Given the description of an element on the screen output the (x, y) to click on. 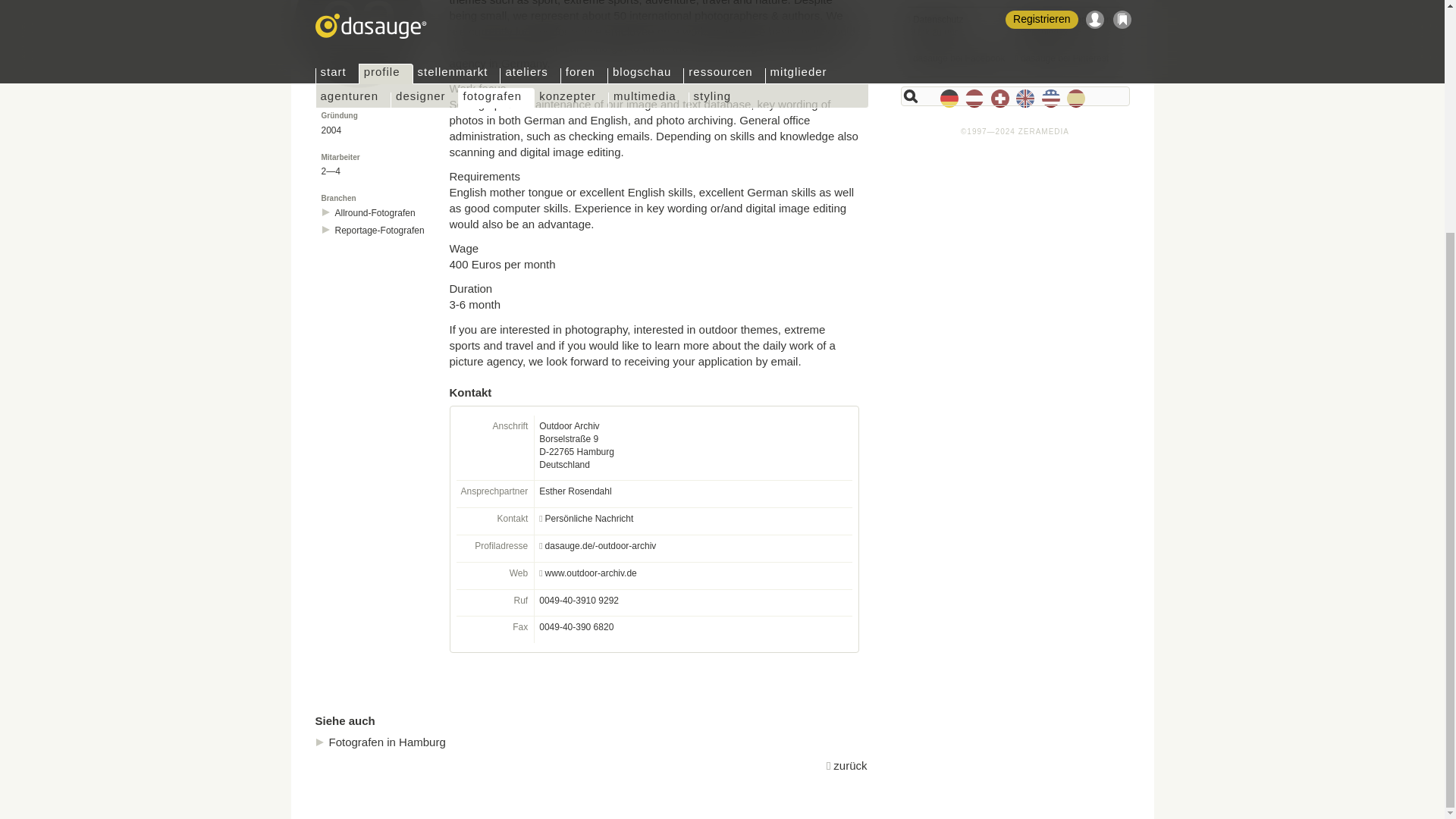
Fotografen: Reportage (379, 230)
Fotografen: Allround (374, 212)
Fotografen in Hamburg (387, 741)
